Given the description of an element on the screen output the (x, y) to click on. 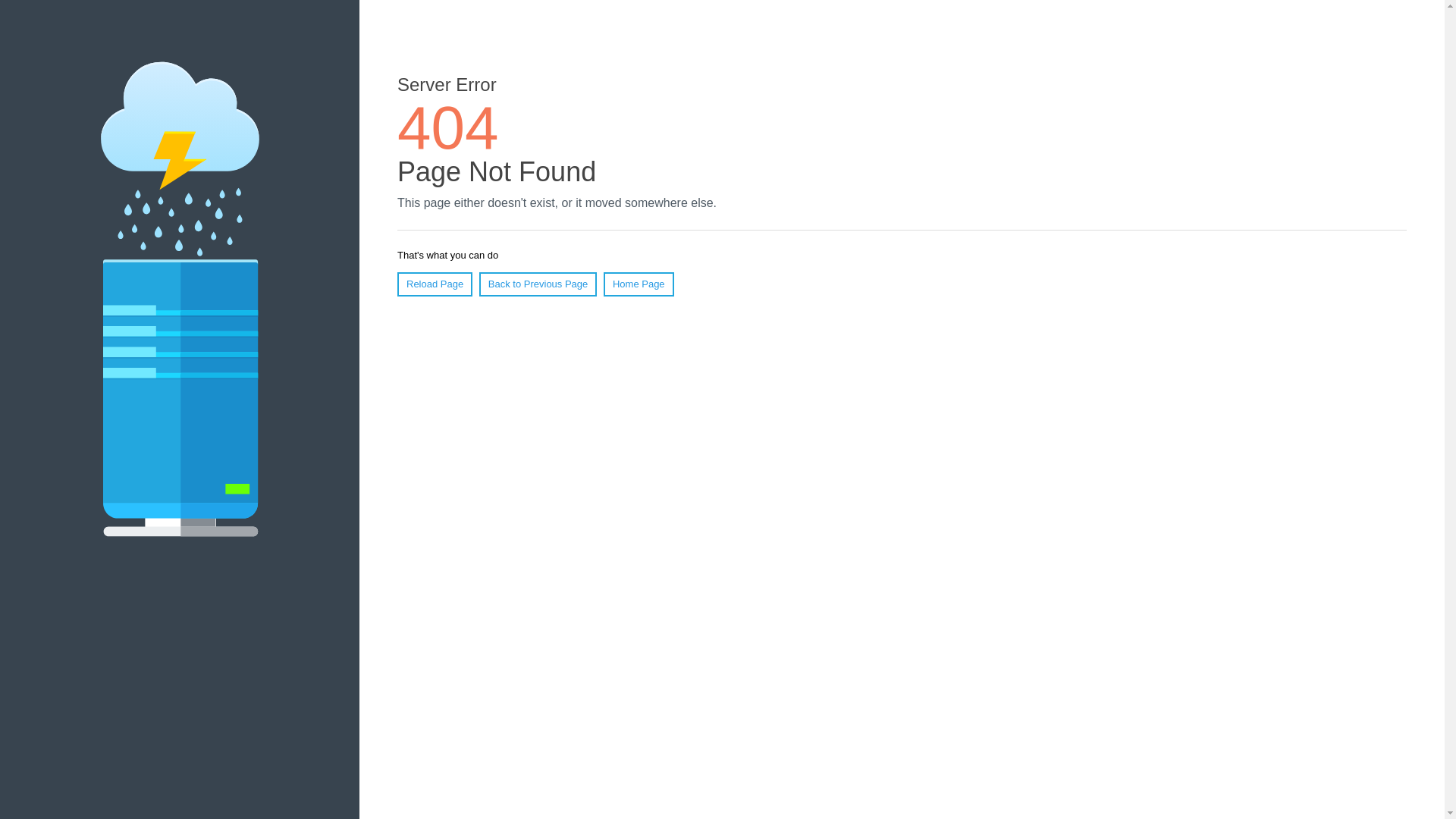
Home Page Element type: text (638, 284)
Reload Page Element type: text (434, 284)
Back to Previous Page Element type: text (538, 284)
